Given the description of an element on the screen output the (x, y) to click on. 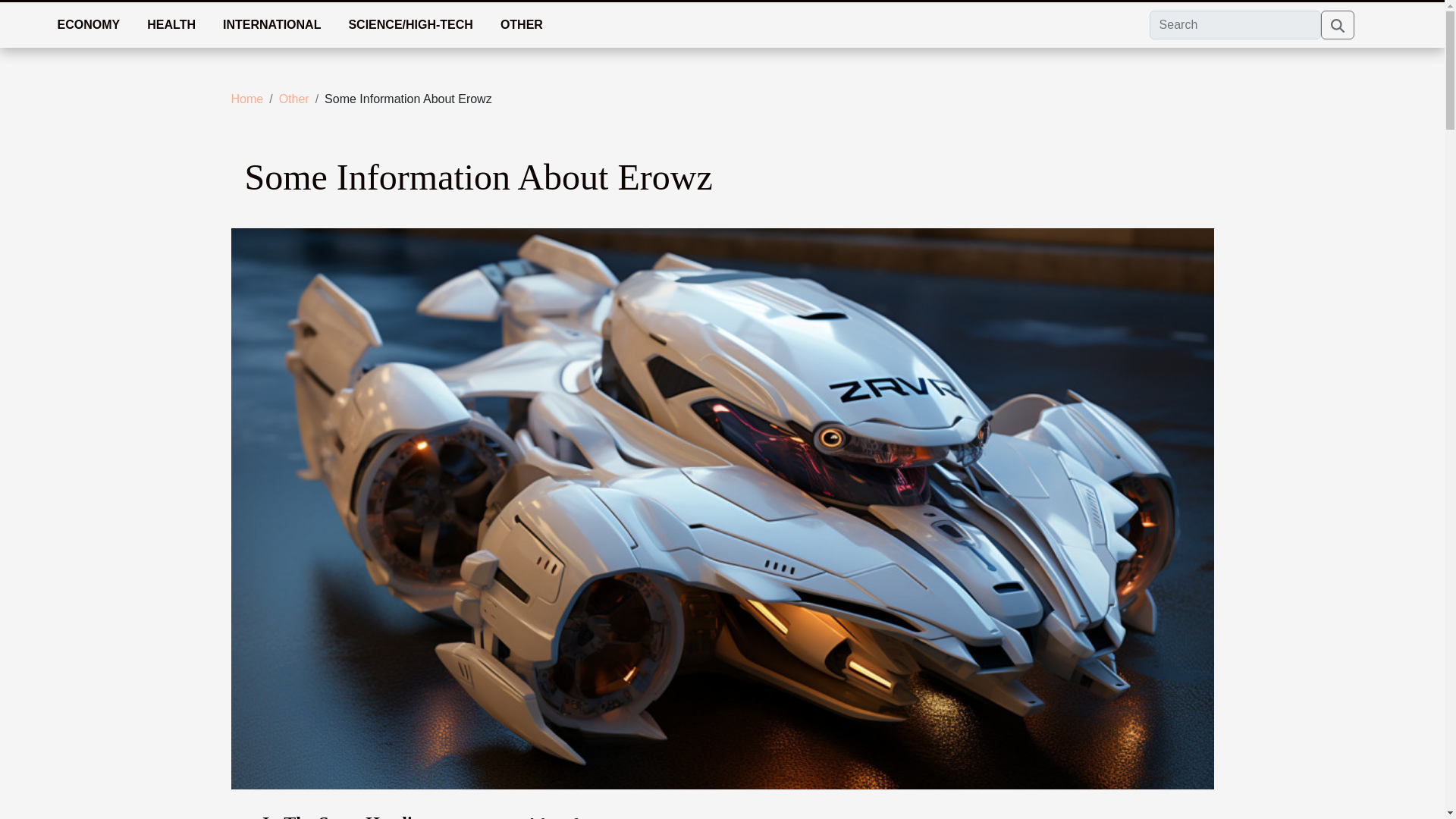
ECONOMY (88, 24)
Home (246, 98)
Other (293, 98)
INTERNATIONAL (271, 24)
OTHER (521, 24)
HEALTH (171, 24)
Other (293, 98)
